Given the description of an element on the screen output the (x, y) to click on. 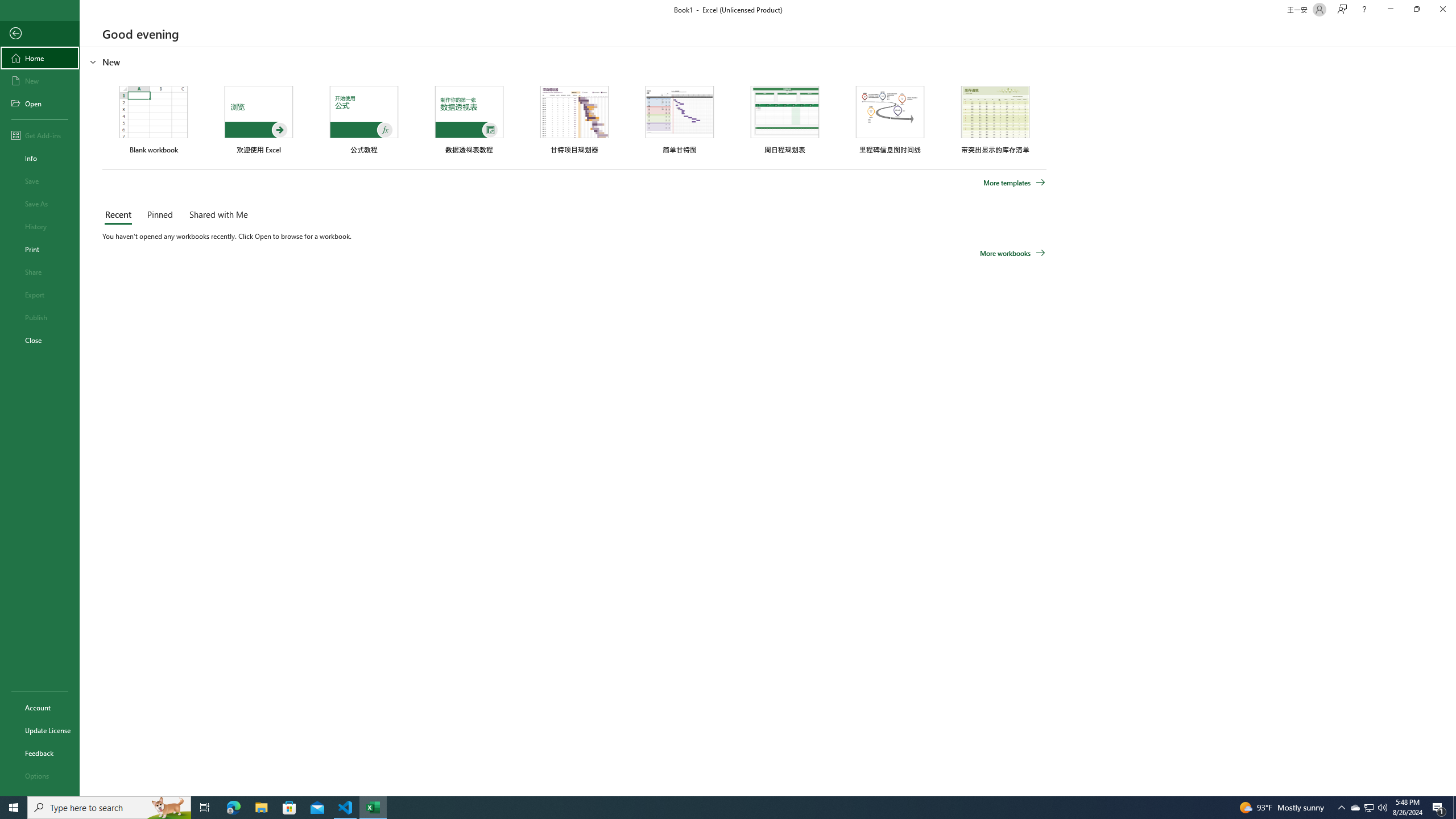
Publish (40, 317)
Account (40, 707)
History (40, 225)
Options (40, 775)
Blank workbook (153, 119)
More workbooks (1012, 252)
